Given the description of an element on the screen output the (x, y) to click on. 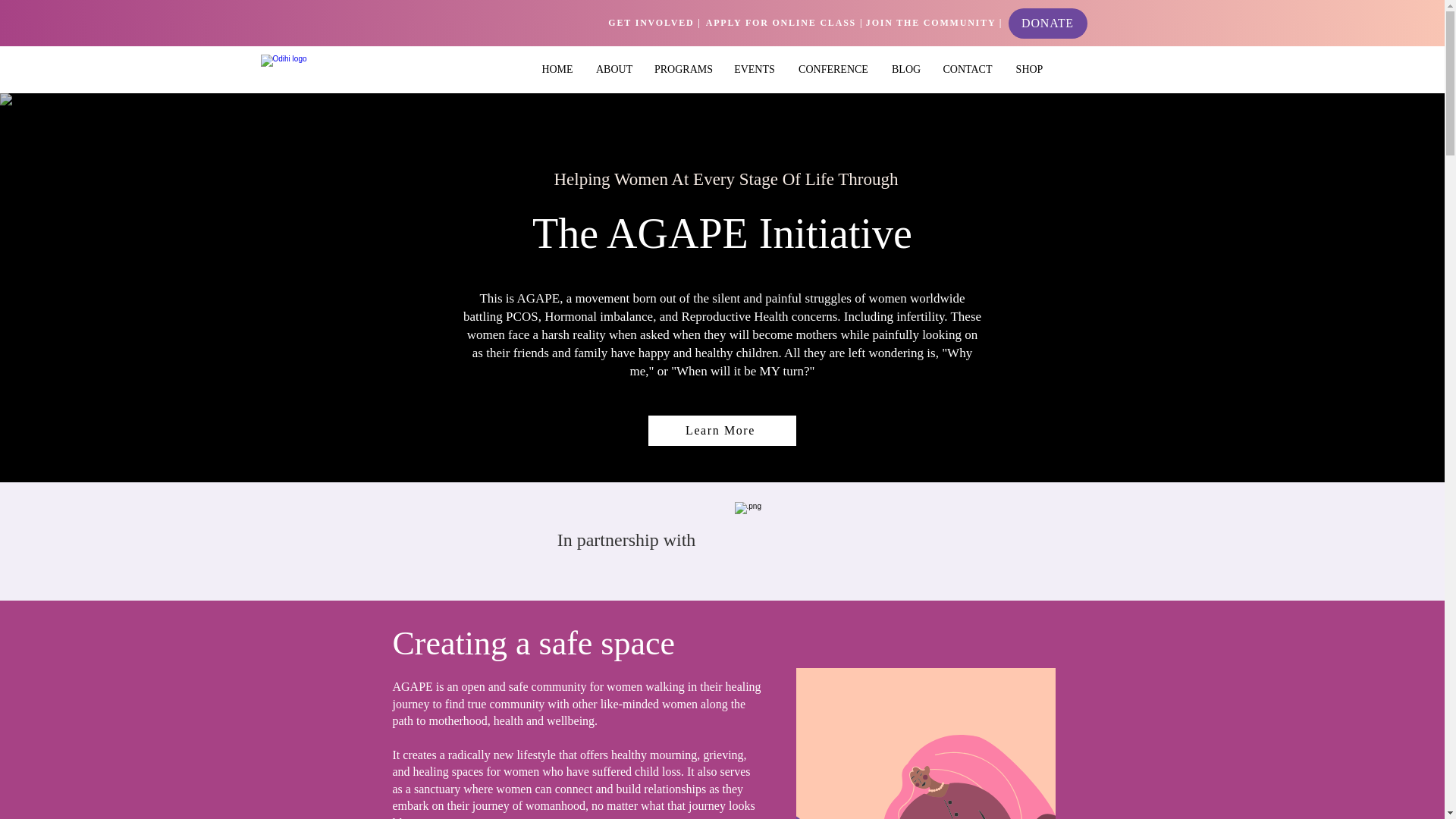
DONATE (1048, 23)
CONFERENCE (833, 69)
ABOUT (614, 69)
EVENTS (754, 69)
HOME (557, 69)
SHOP (1029, 69)
BLOG (905, 69)
CONTACT (967, 69)
Learn More (720, 430)
